Given the description of an element on the screen output the (x, y) to click on. 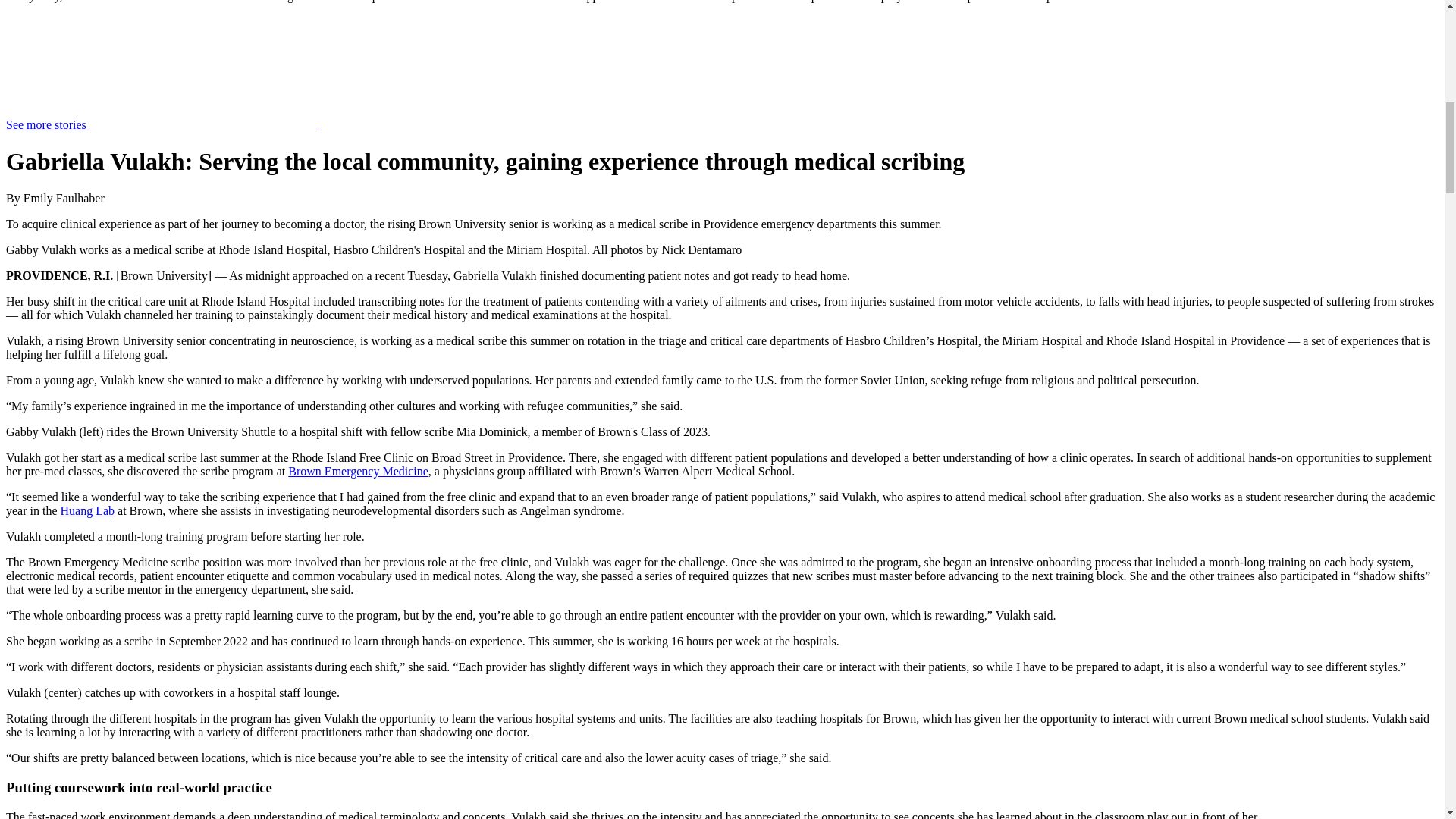
Brown Emergency Medicine (358, 471)
Huang Lab (88, 510)
See more stories (276, 124)
